Given the description of an element on the screen output the (x, y) to click on. 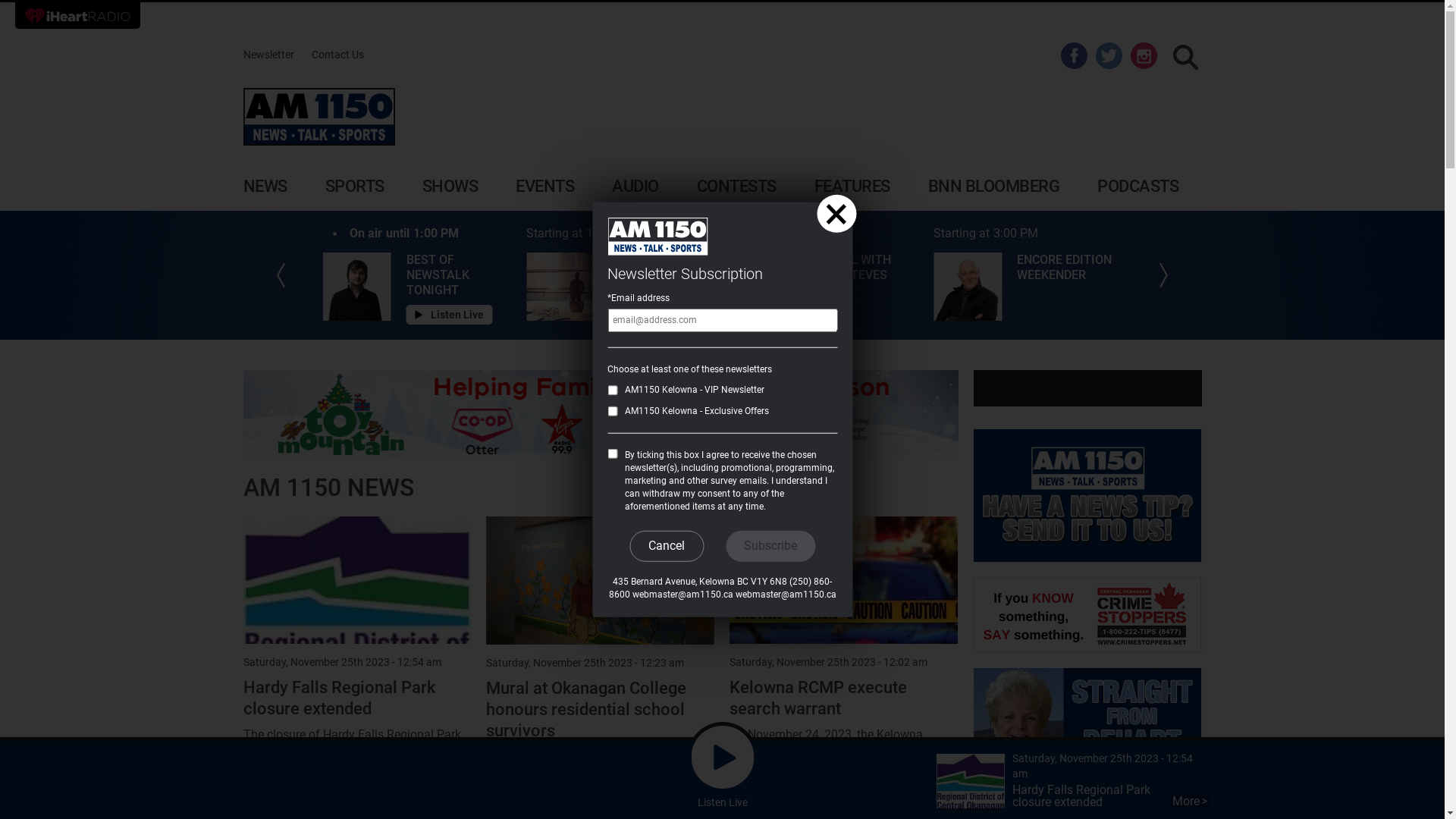
Newsletter Element type: text (267, 54)
CONTESTS Element type: text (735, 186)
More Element type: text (1188, 801)
NEWS Element type: text (264, 186)
Twitter Element type: text (1108, 54)
Kelowna RCMP execute search warrant Element type: text (817, 697)
Search... Element type: hover (1185, 56)
SHOWS Element type: text (449, 186)
BEST OF NEWSTALK TONIGHT Element type: text (458, 275)
TRAVEL WITH RICK STEVES Element type: text (865, 267)
AUDIO Element type: text (634, 186)
Instagram Element type: text (1142, 54)
PODCASTS Element type: text (1137, 186)
Facebook Element type: text (1073, 54)
ENCORE EDITION WEEKENDER Element type: text (1069, 267)
Cancel Element type: text (666, 545)
Contact Us Element type: text (336, 54)
Subscribe Element type: text (770, 545)
EVENTS Element type: text (544, 186)
Listen Live Element type: text (449, 314)
BNN BLOOMBERG Element type: text (994, 186)
FEATURES Element type: text (852, 186)
Hardy Falls Regional Park closure extended Element type: text (338, 697)
SPORTS Element type: text (353, 186)
Hardy Falls Regional Park closure extended Element type: hover (969, 782)
THE CEO SERIES Element type: text (655, 259)
iHeartRadio Element type: text (77, 15)
Play Element type: text (721, 756)
